Given the description of an element on the screen output the (x, y) to click on. 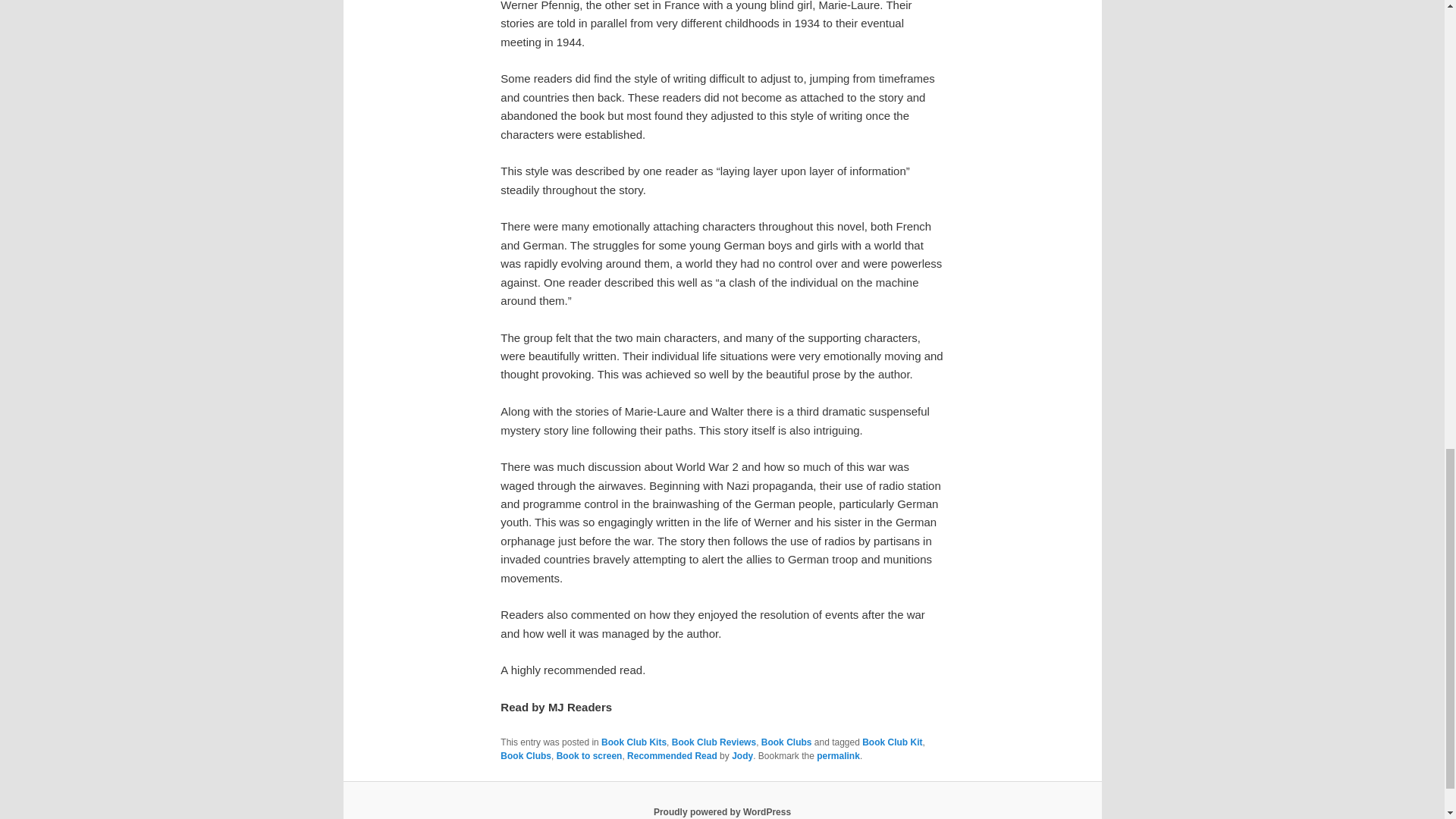
Book Club Reviews (713, 742)
Book to screen (589, 756)
Proudly powered by WordPress (721, 811)
Semantic Personal Publishing Platform (721, 811)
Recommended Read (672, 756)
Book Clubs (786, 742)
permalink (838, 756)
Book Club Kits (633, 742)
Jody (742, 756)
Permalink to Book Review All the light we cannot see (838, 756)
Book Clubs (525, 756)
Book Club Kit (891, 742)
